Given the description of an element on the screen output the (x, y) to click on. 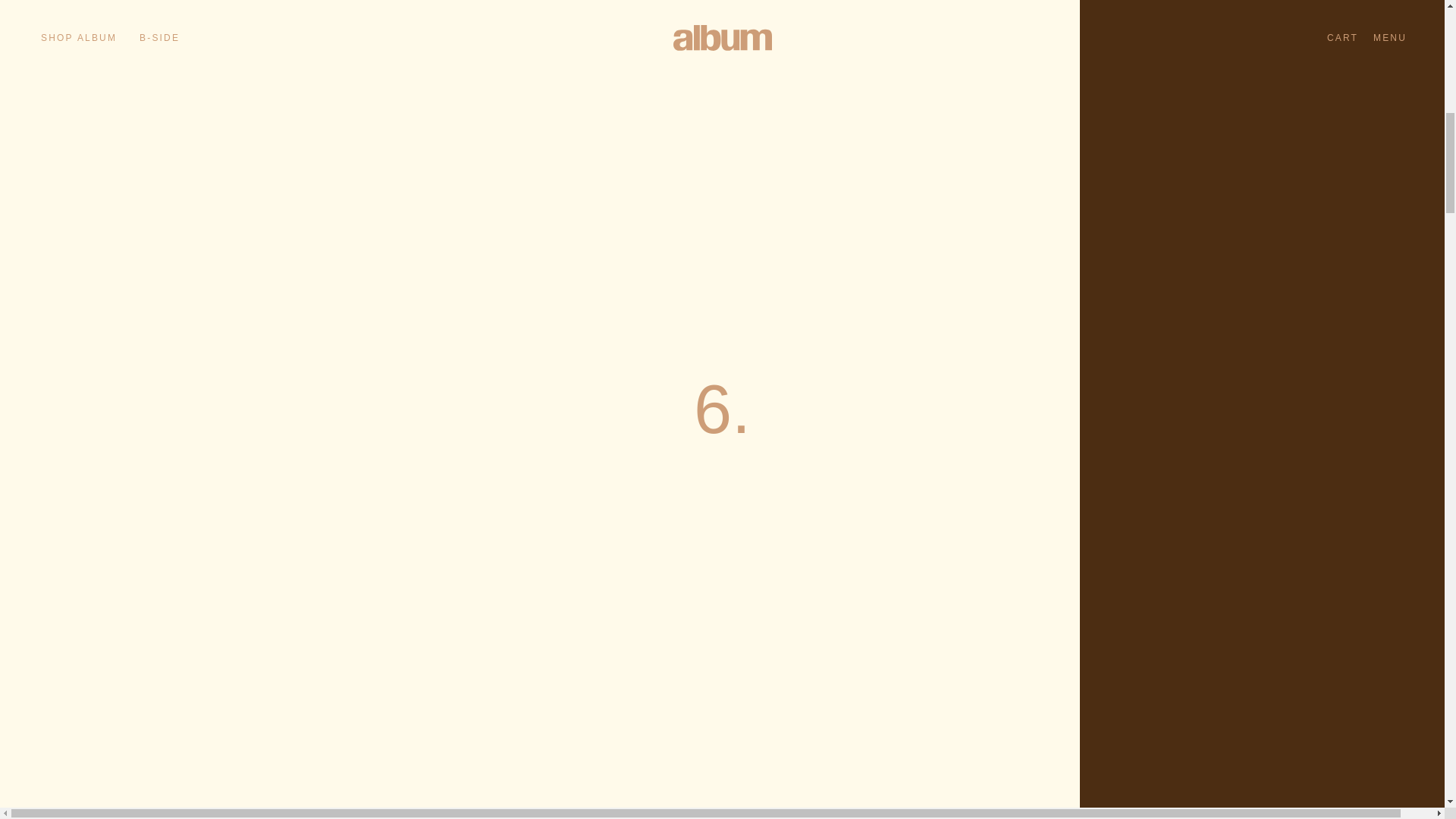
Learn More (1337, 292)
Join the B Side (1337, 292)
JOIN B-SIDE (1279, 338)
